Given the description of an element on the screen output the (x, y) to click on. 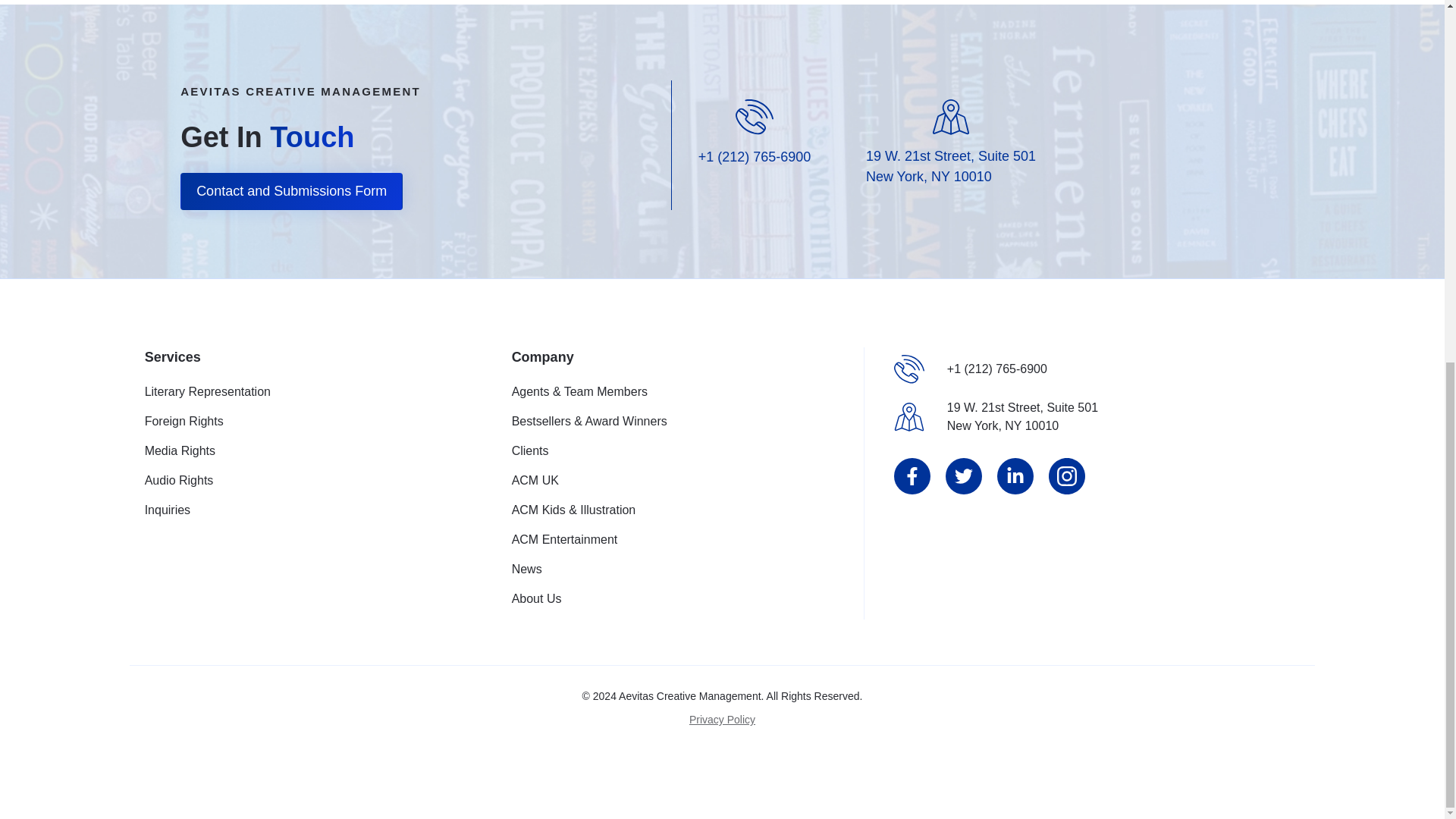
ACM Entertainment (673, 539)
Contact and Submissions Form (291, 190)
Media Rights (305, 451)
Clients (673, 451)
Inquiries (305, 510)
ACM UK (673, 480)
About Us (673, 598)
Audio Rights (1022, 416)
Foreign Rights (305, 480)
